Given the description of an element on the screen output the (x, y) to click on. 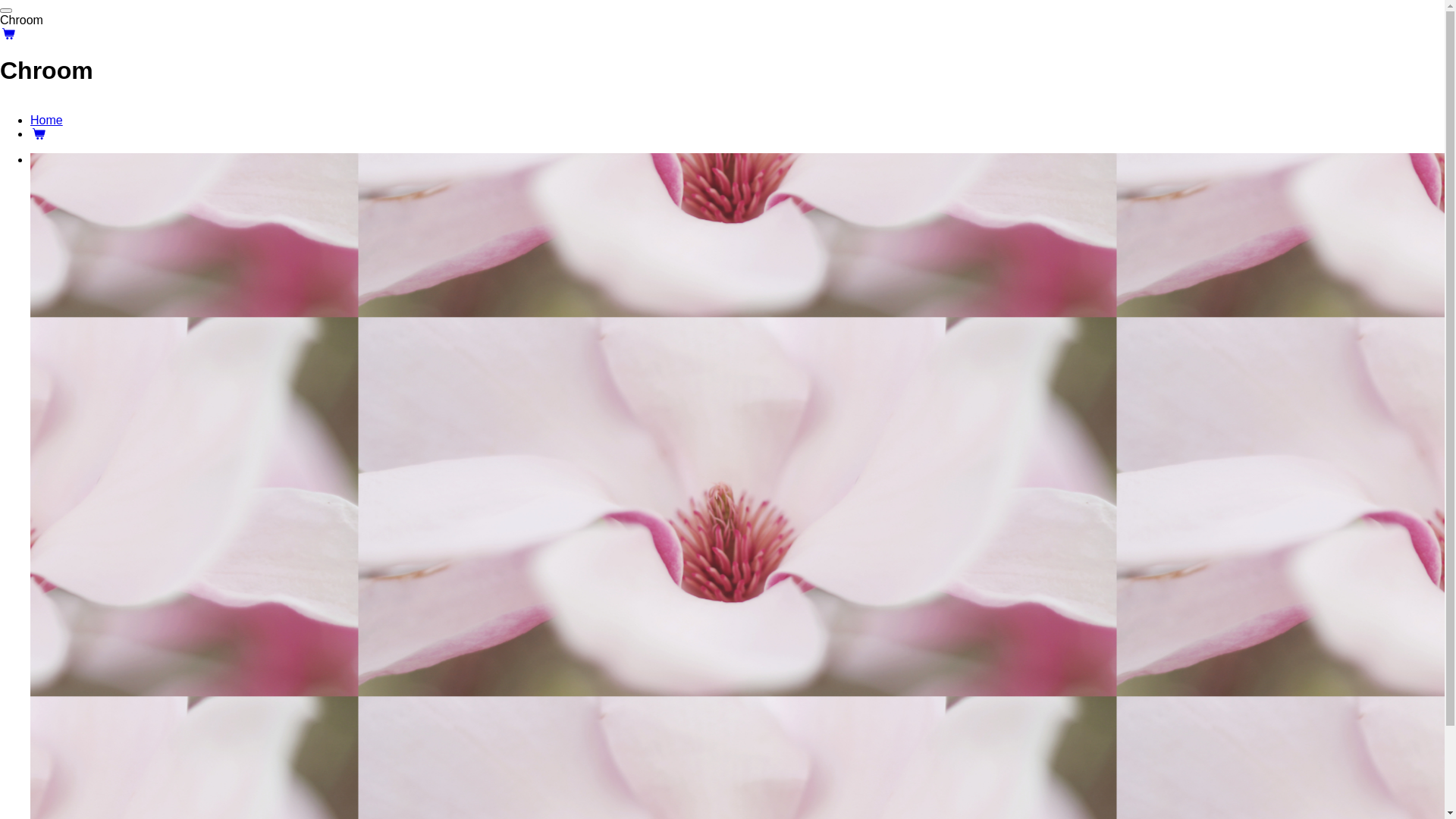
Home Element type: text (46, 119)
Winkelwagen Element type: hover (38, 133)
